Given the description of an element on the screen output the (x, y) to click on. 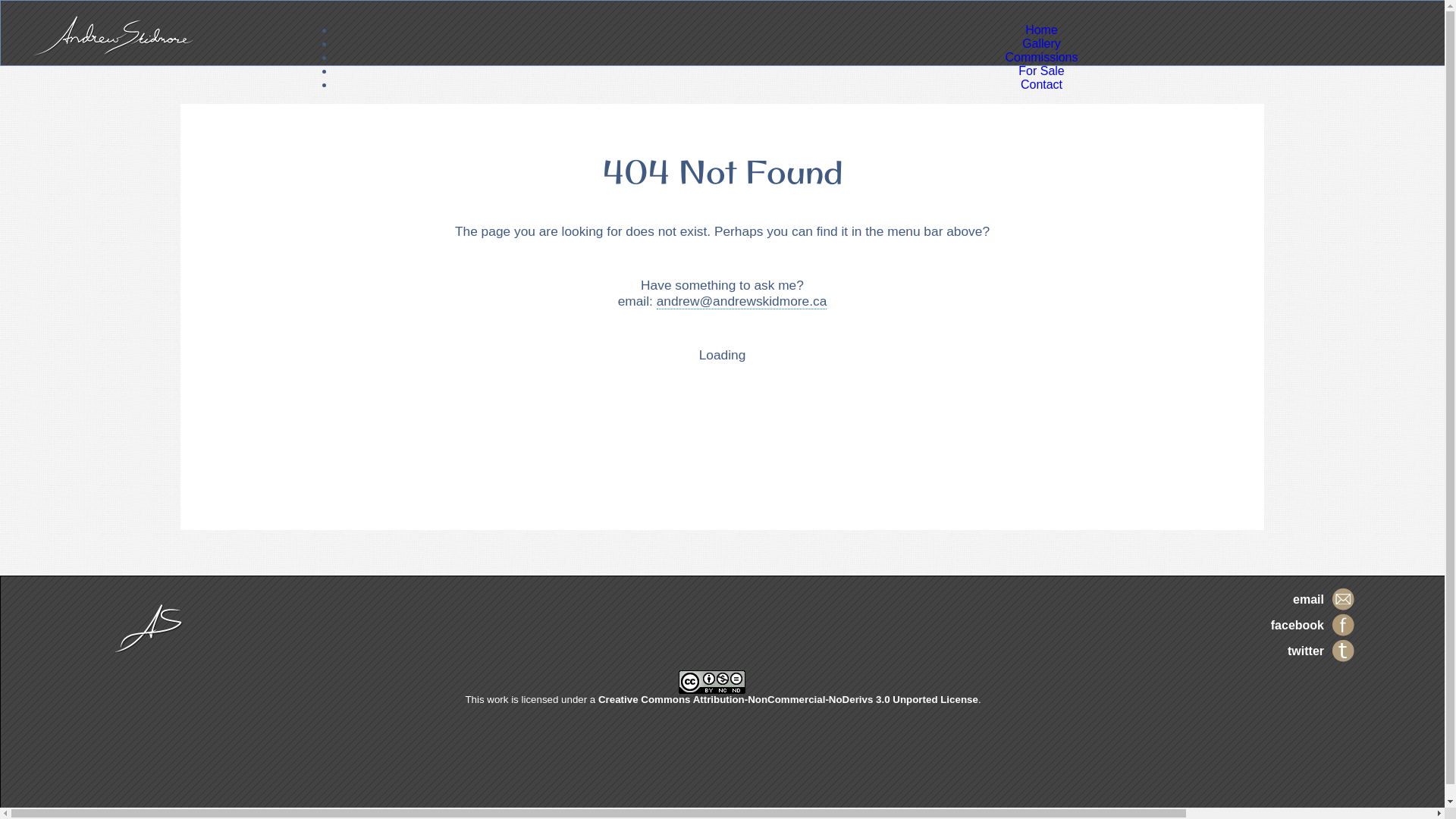
email Element type: text (1308, 599)
andrew@andrewskidmore.ca Element type: text (741, 301)
Home Element type: text (1041, 29)
For Sale Element type: text (1040, 70)
facebook Element type: text (1297, 624)
Contact Element type: text (1041, 84)
Commissions Element type: text (1040, 56)
twitter Element type: text (1305, 650)
Andrew Skidmore Element type: hover (112, 34)
Gallery Element type: text (1041, 43)
